Given the description of an element on the screen output the (x, y) to click on. 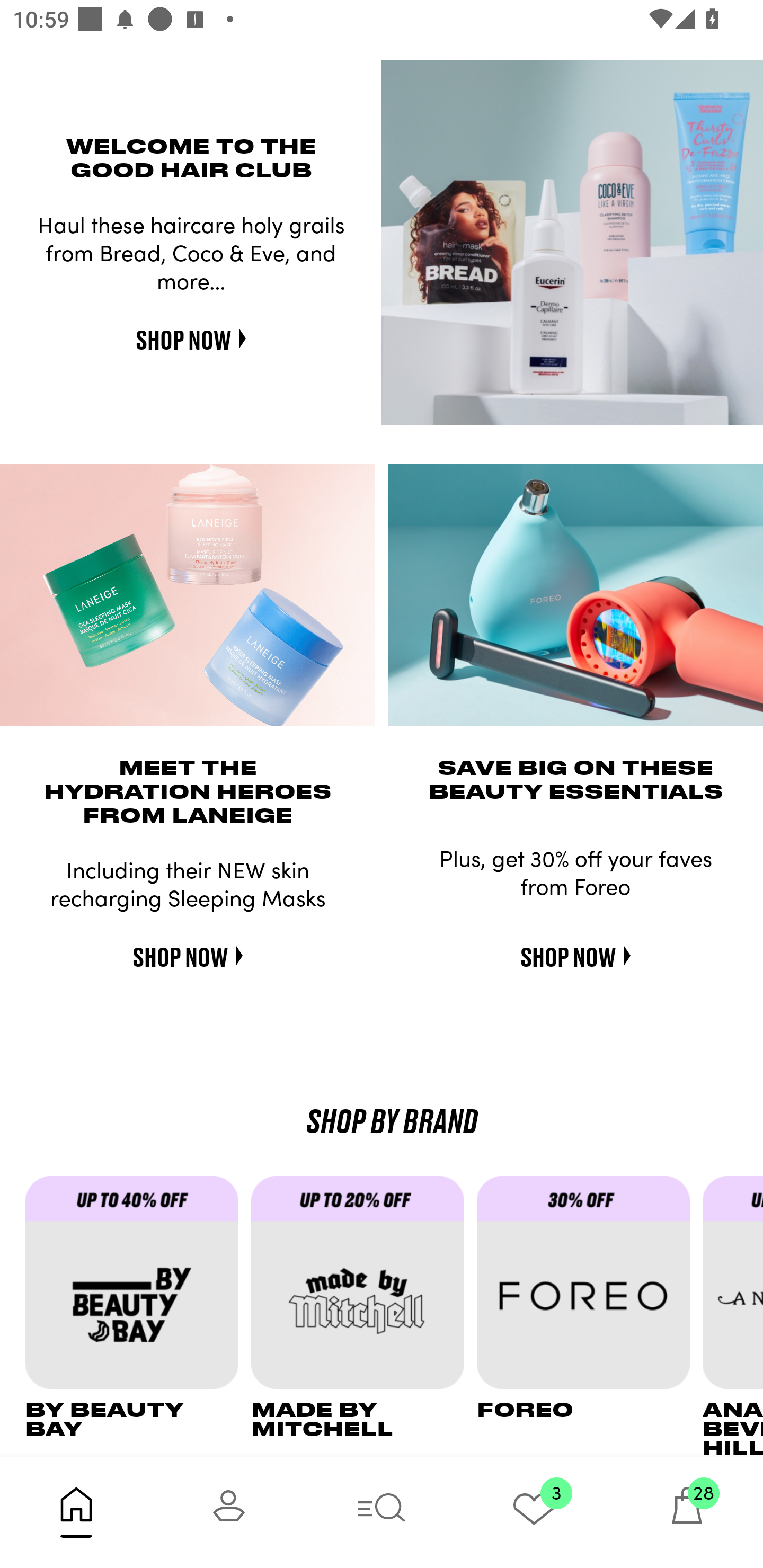
BY BEAUTY BAY (138, 1316)
MADE BY MITCHELL (363, 1316)
FOREO (589, 1316)
3 (533, 1512)
28 (686, 1512)
